Given the description of an element on the screen output the (x, y) to click on. 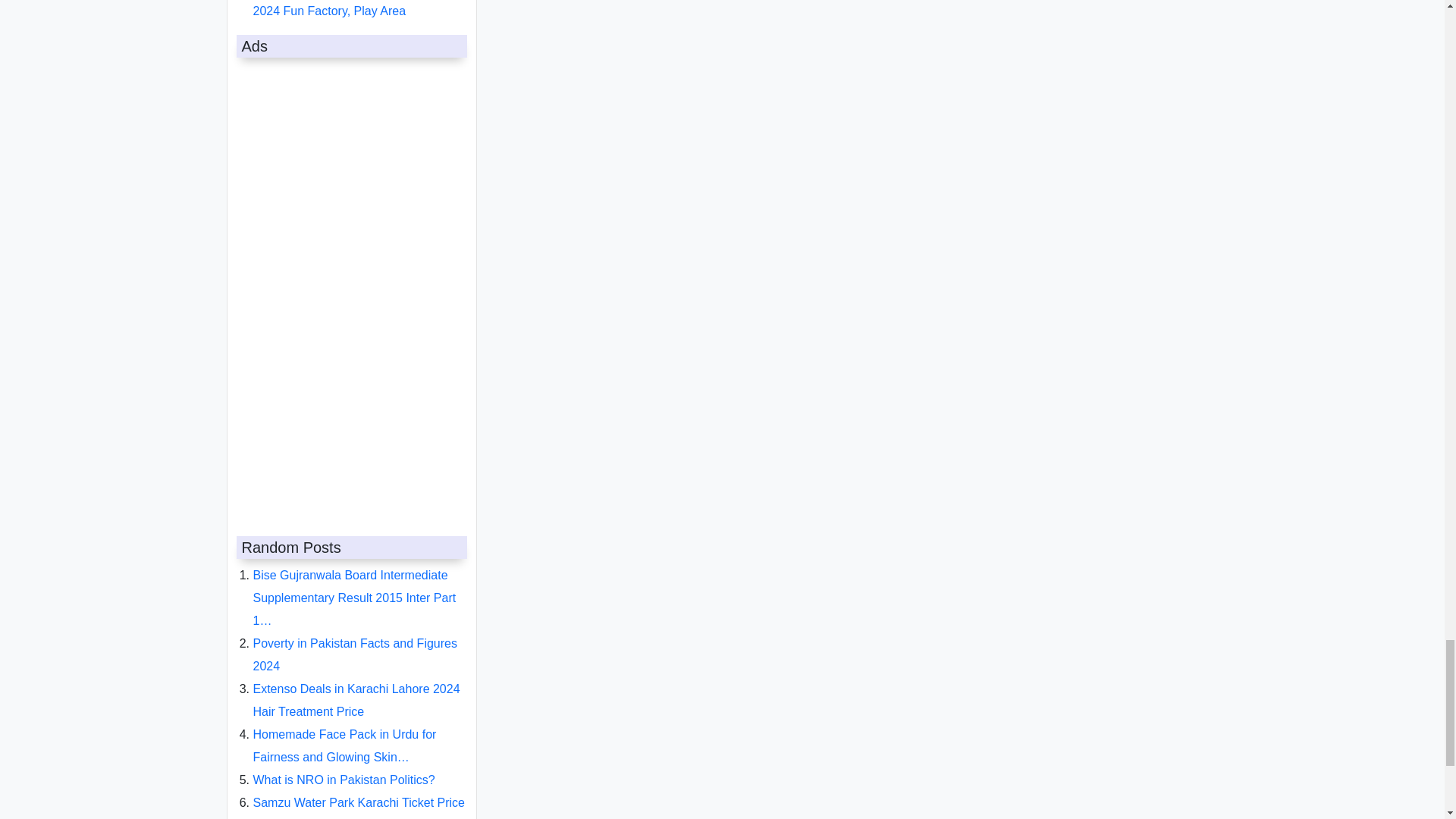
Extenso Deals in Karachi Lahore 2024 Hair Treatment Price (356, 687)
Poverty in Pakistan Facts and Figures 2024 (355, 642)
